Given the description of an element on the screen output the (x, y) to click on. 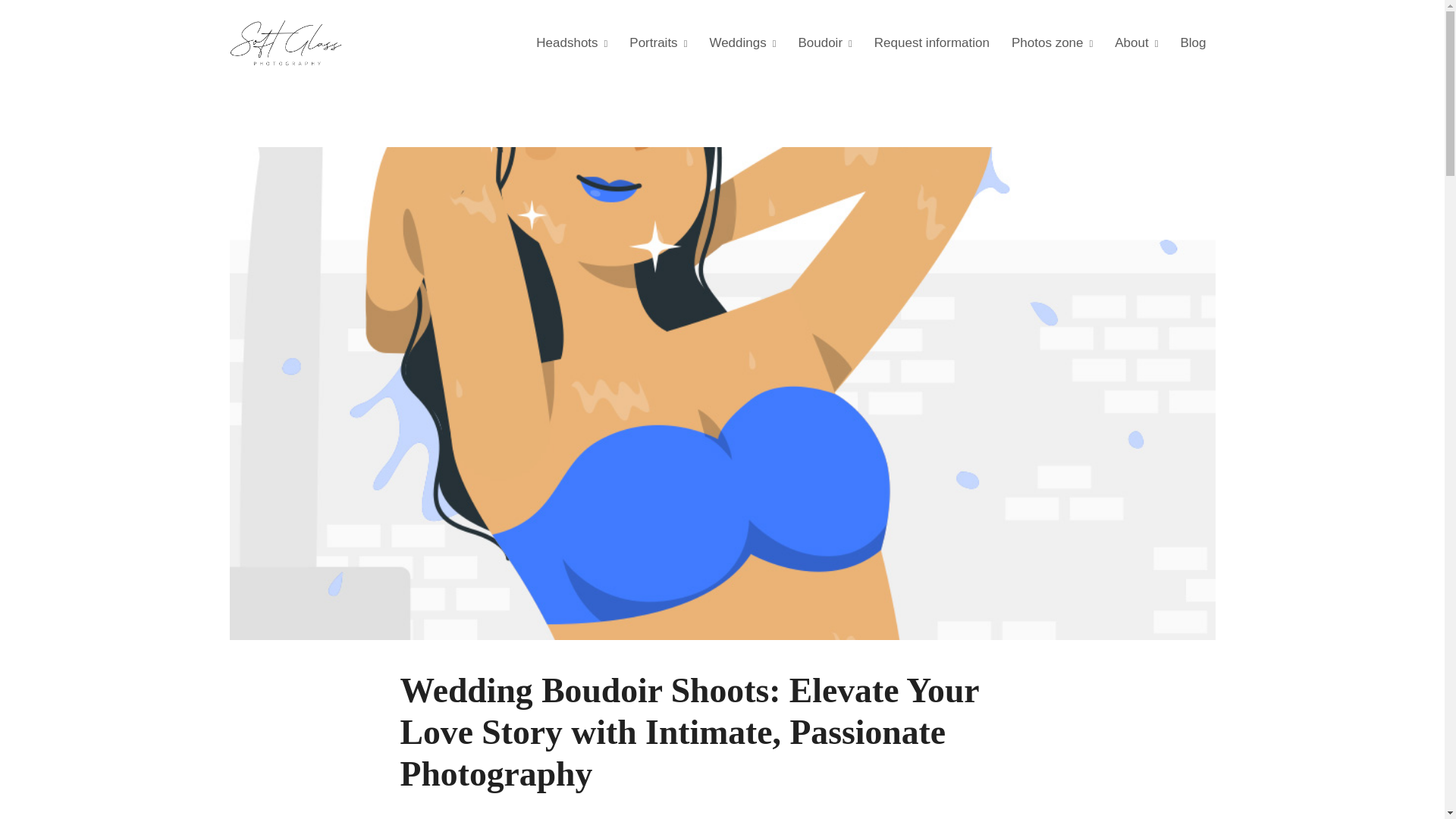
Blog (1192, 42)
Request information (931, 42)
